Given the description of an element on the screen output the (x, y) to click on. 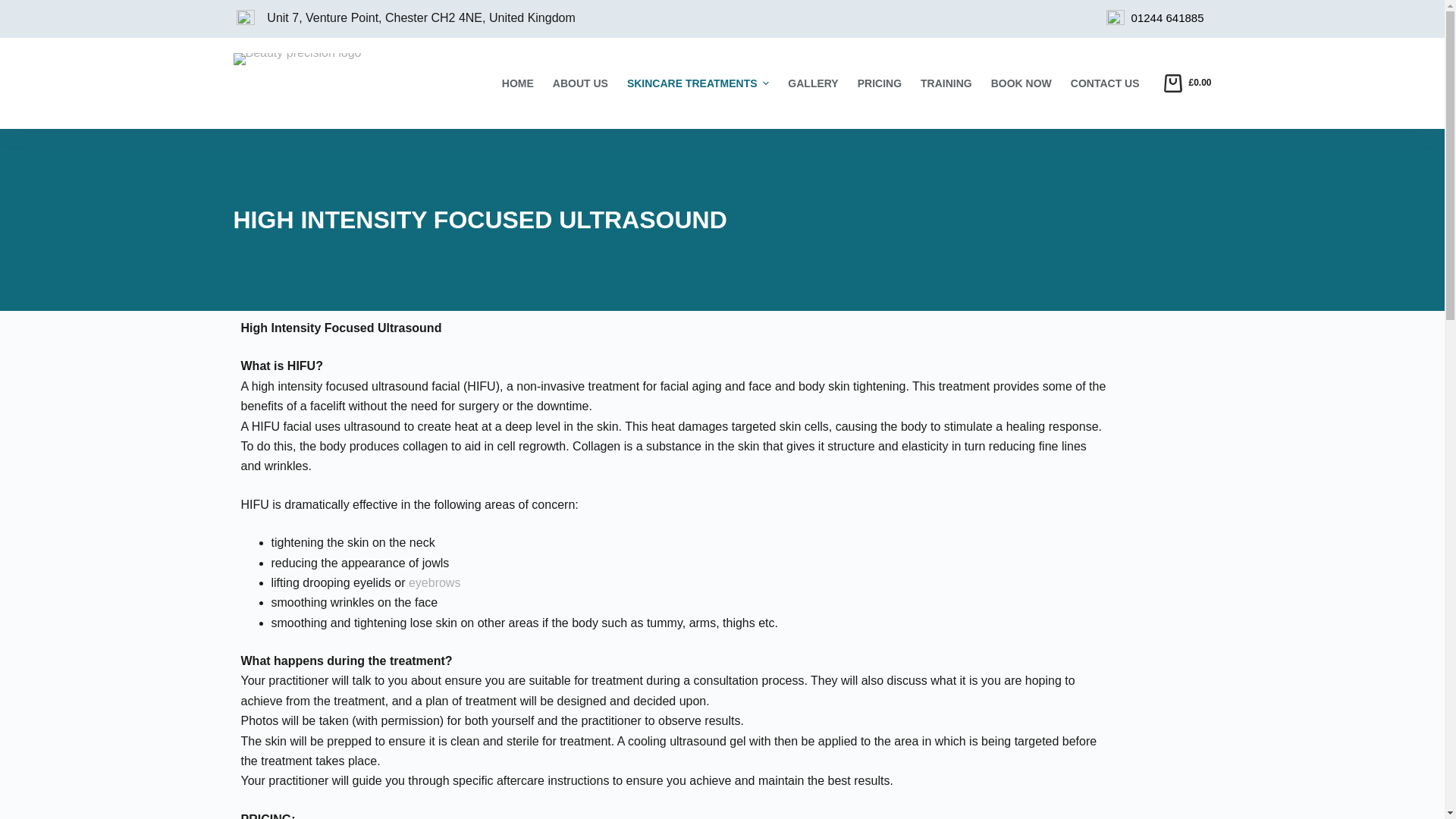
HIGH INTENSITY FOCUSED ULTRASOUND (721, 219)
Skip to content (15, 7)
SKINCARE TREATMENTS (697, 82)
01244 641885 (1167, 17)
